Given the description of an element on the screen output the (x, y) to click on. 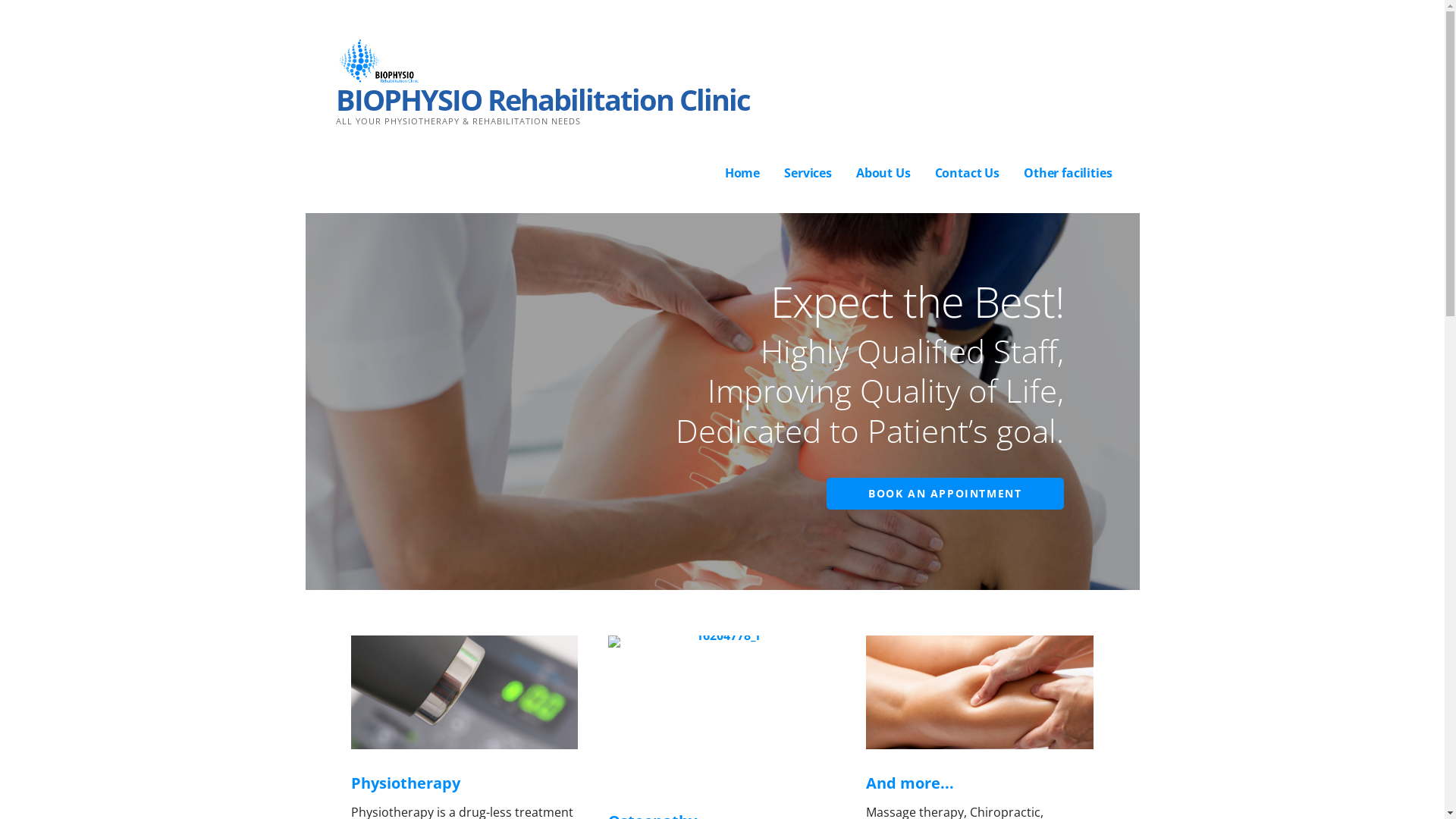
BOOK AN APPOINTMENT Element type: text (944, 493)
Other facilities Element type: text (1067, 173)
About Us Element type: text (883, 173)
16204778_l Element type: hover (721, 711)
Services Element type: text (807, 173)
Massage Therapy Element type: hover (979, 692)
Contact Us Element type: text (967, 173)
And more... Element type: text (909, 782)
BIOPHYSIO Rehabilitation Clinic Element type: text (542, 99)
Physiotherapy Element type: text (404, 782)
Home Element type: text (741, 173)
Equipment_1 Element type: hover (463, 692)
Skip to content Element type: text (0, 0)
